Given the description of an element on the screen output the (x, y) to click on. 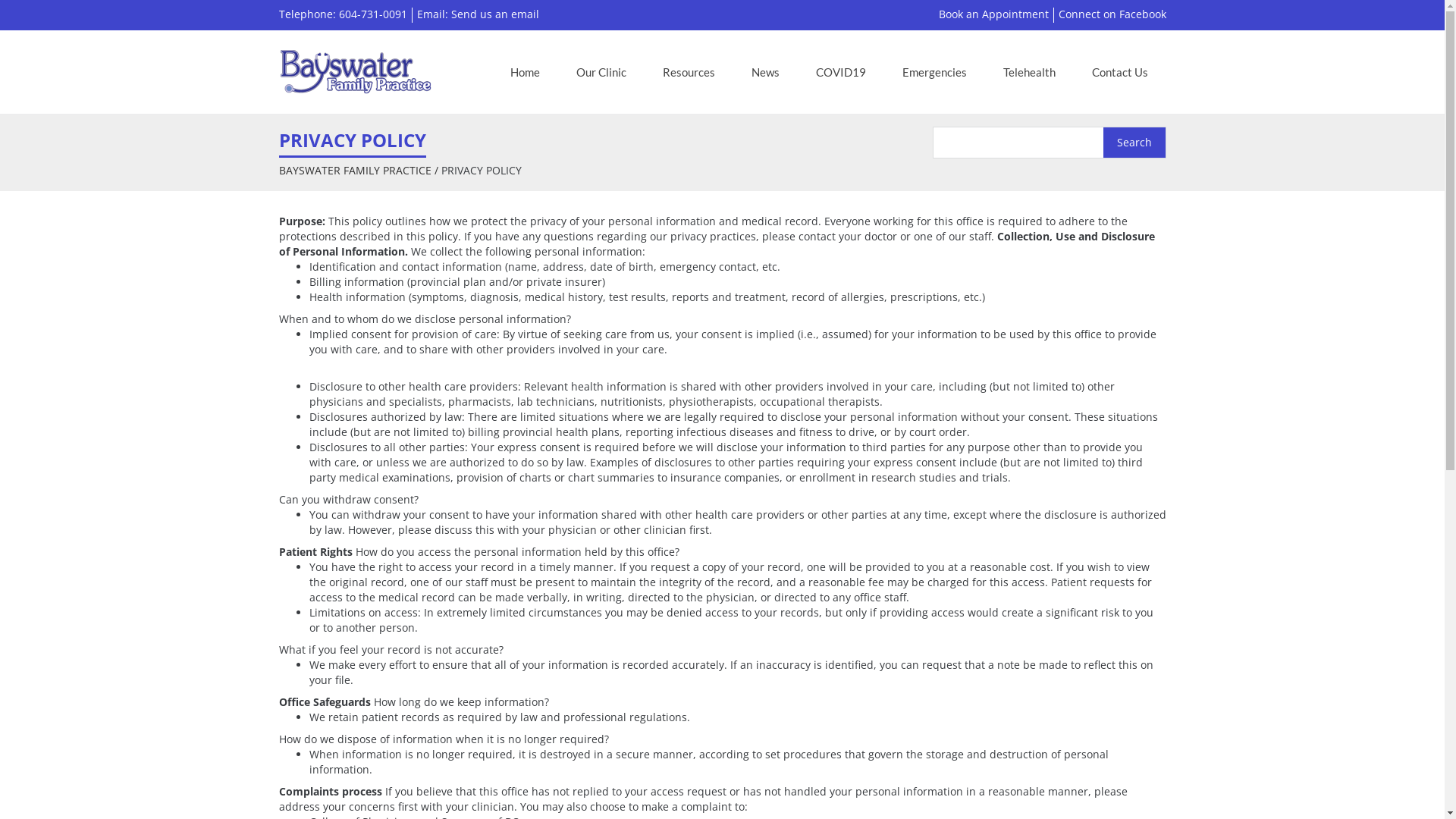
Home Element type: text (524, 71)
Book an Appointment Element type: text (993, 13)
Send us an email Element type: text (494, 13)
COVID19 Element type: text (840, 71)
Contact Us Element type: text (1119, 71)
Connect on Facebook Element type: text (1112, 13)
BAYSWATER FAMILY PRACTICE Element type: text (355, 170)
Search Element type: text (1133, 142)
Telehealth Element type: text (1029, 71)
News Element type: text (765, 71)
Emergencies Element type: text (933, 71)
Resources Element type: text (688, 71)
Our Clinic Element type: text (600, 71)
